Given the description of an element on the screen output the (x, y) to click on. 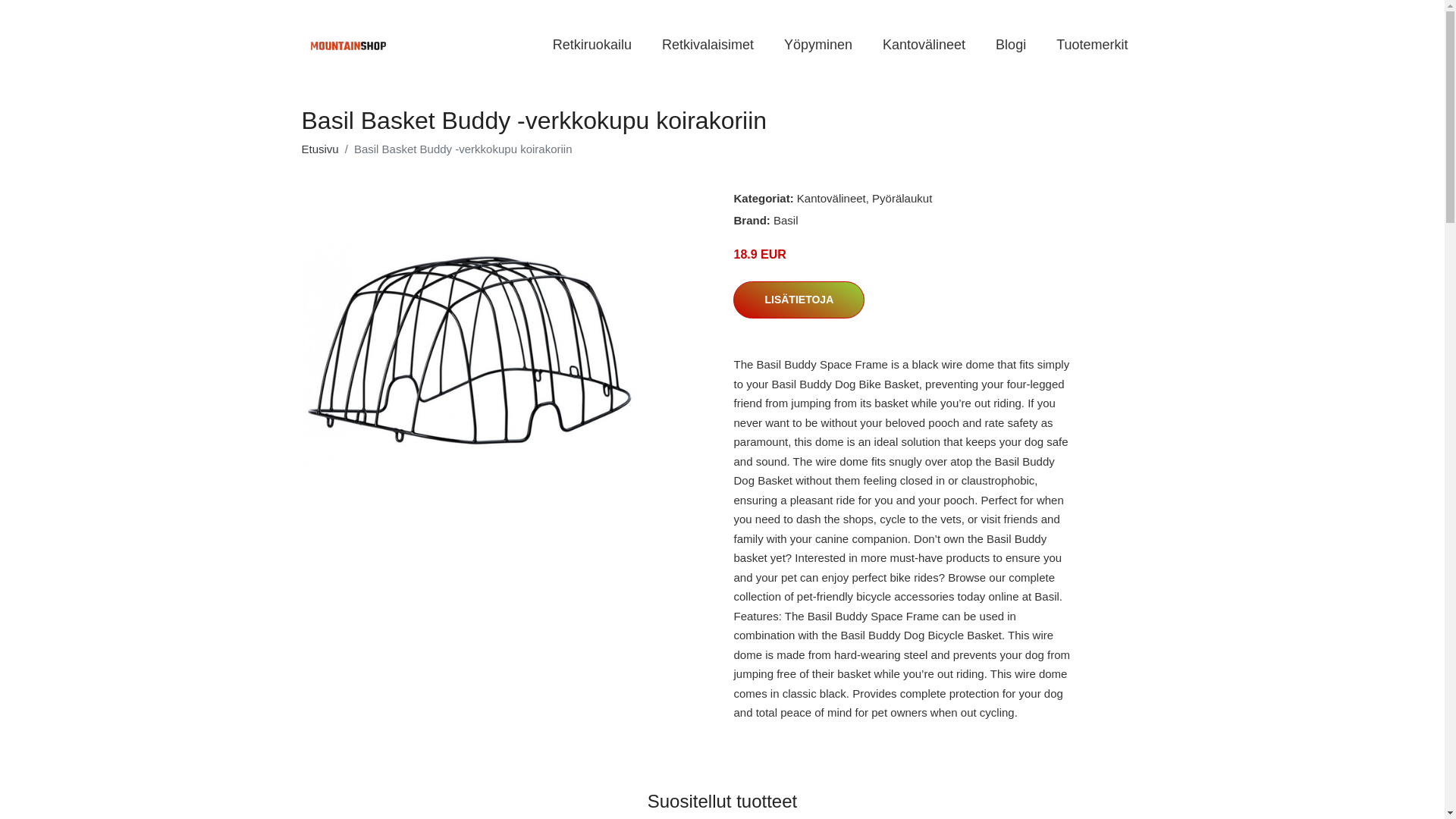
Retkiruokailu (591, 44)
Blogi (1010, 44)
Retkivalaisimet (707, 44)
Tuotemerkit (1091, 44)
Etusivu (320, 148)
